Given the description of an element on the screen output the (x, y) to click on. 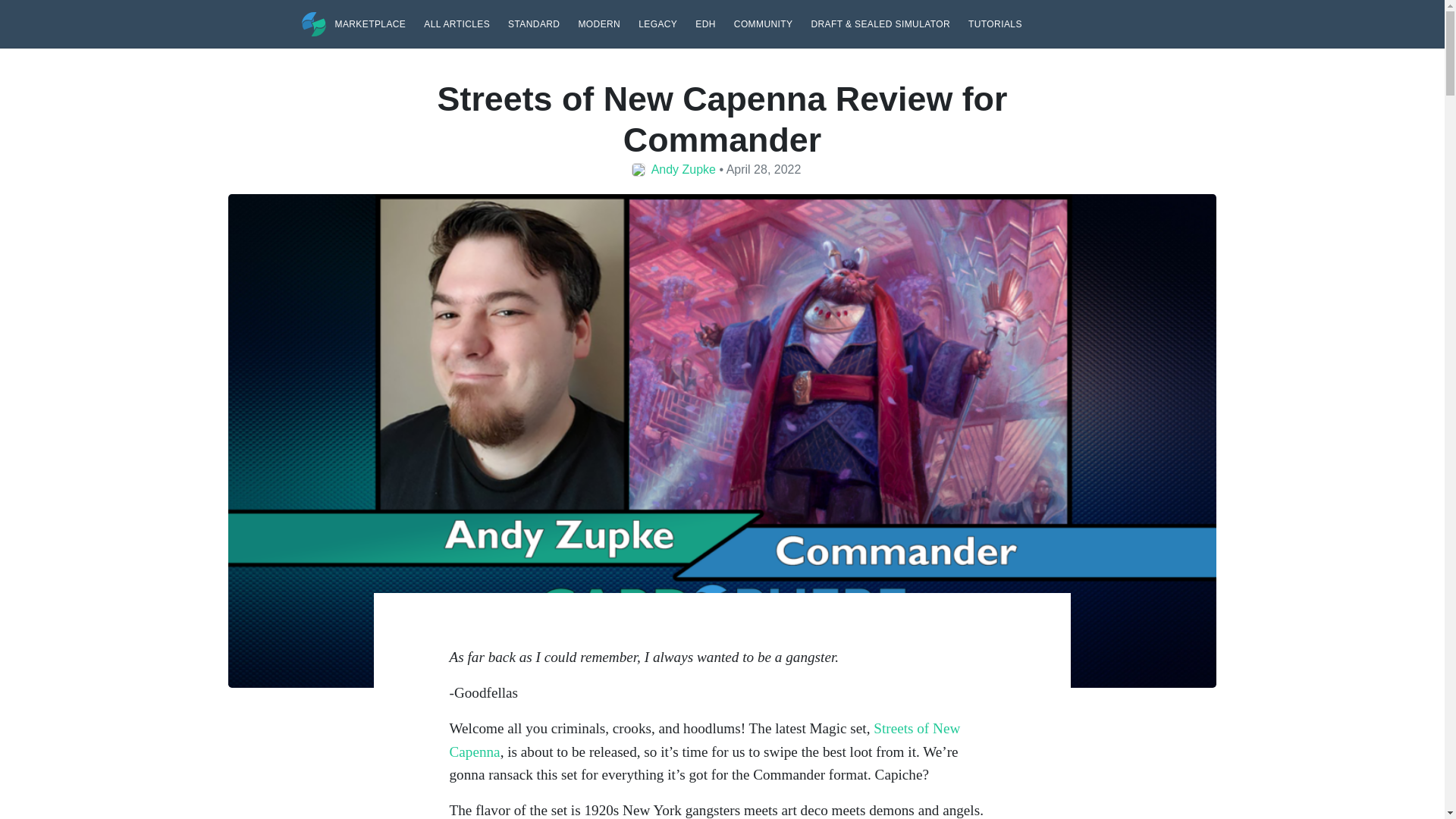
STANDARD (534, 23)
COMMUNITY (763, 23)
TUTORIALS (994, 23)
MODERN (598, 23)
MARKETPLACE (370, 23)
EDH (705, 23)
ALL ARTICLES (456, 23)
Streets of New Capenna (703, 740)
Andy Zupke (683, 168)
LEGACY (656, 23)
